Given the description of an element on the screen output the (x, y) to click on. 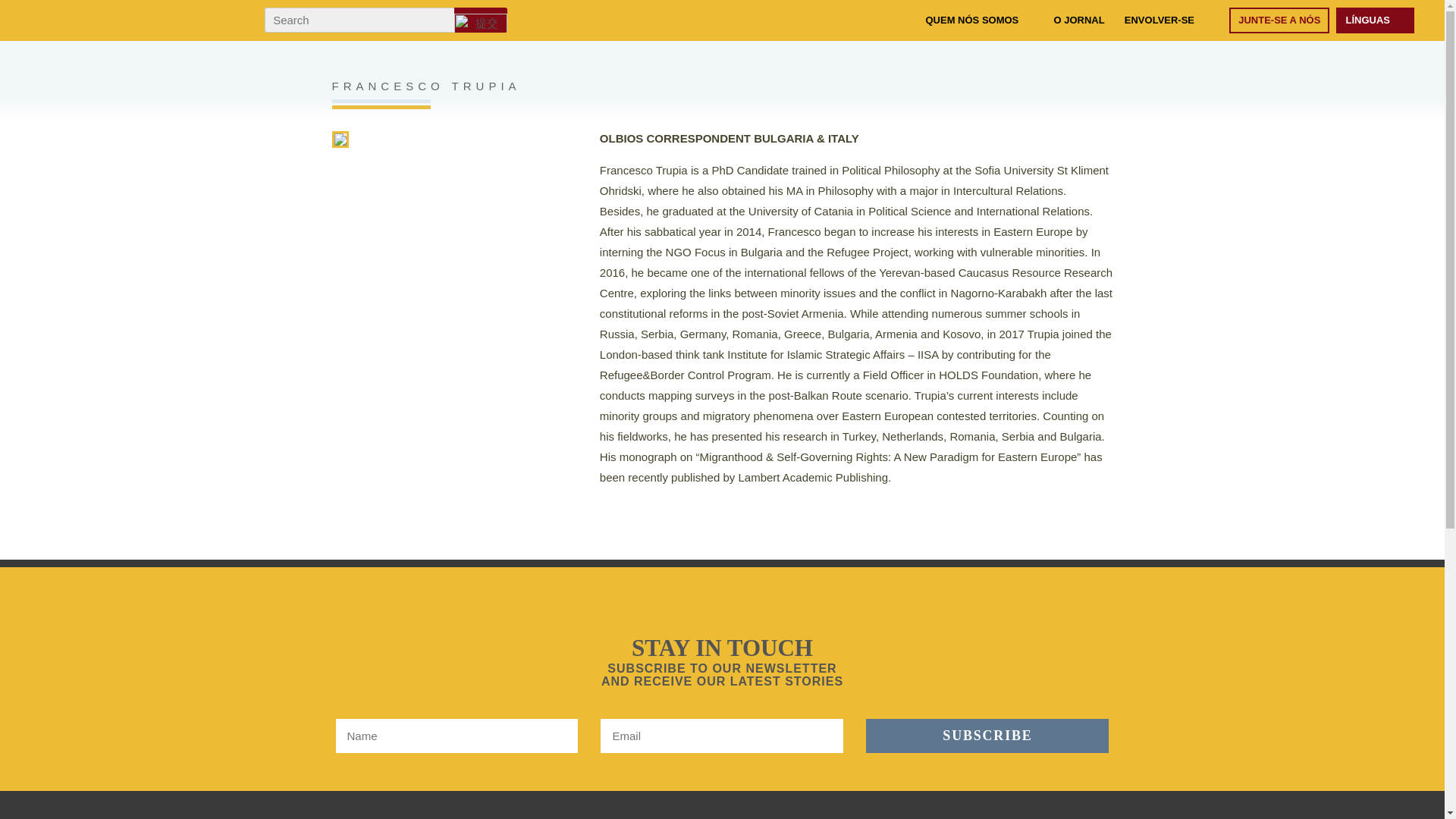
ENVOLVER-SE (1158, 20)
Subscribe (987, 735)
O JORNAL (1077, 20)
